Given the description of an element on the screen output the (x, y) to click on. 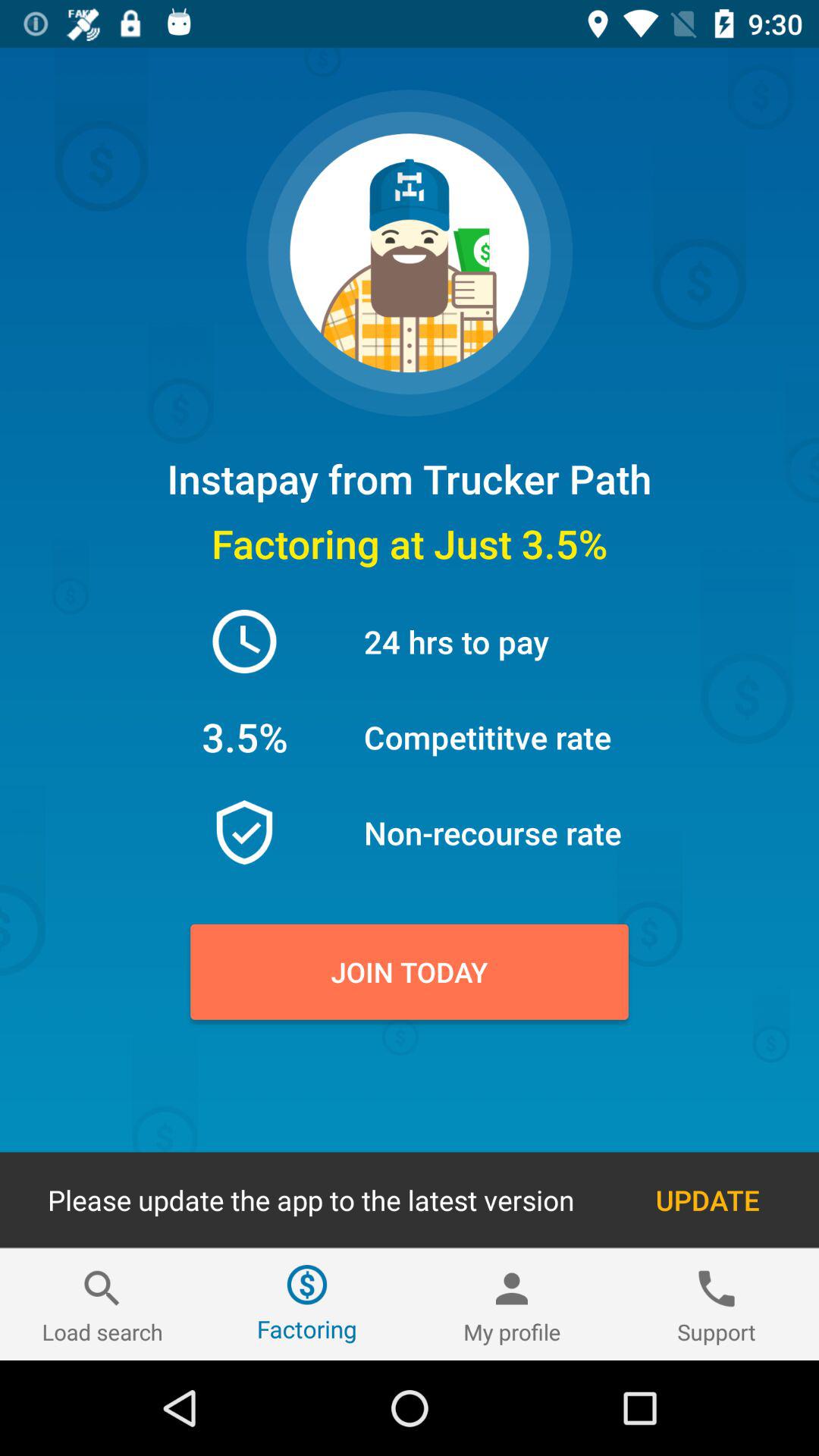
launch icon at the bottom left corner (102, 1304)
